Given the description of an element on the screen output the (x, y) to click on. 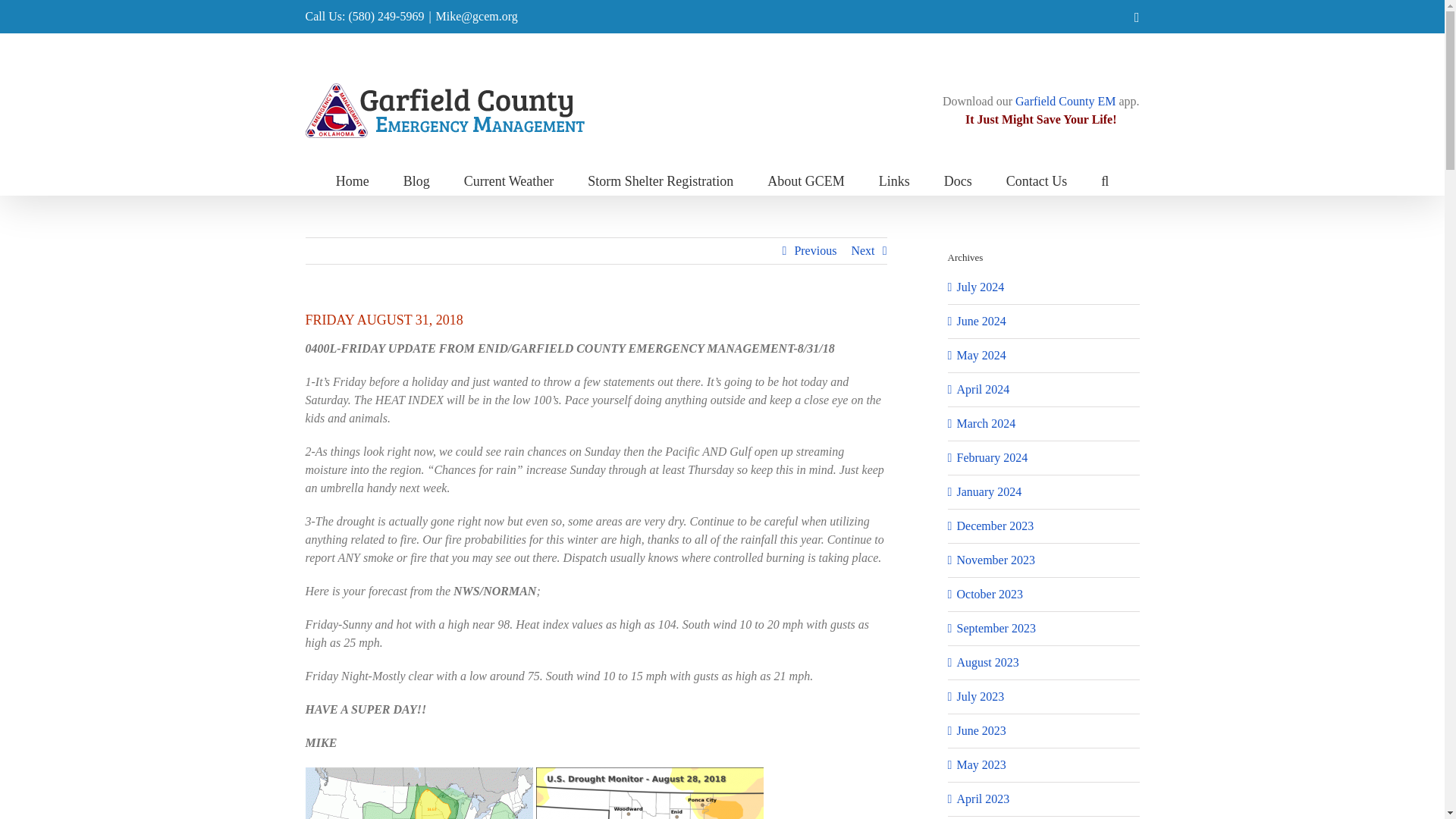
Links (894, 179)
Search (1104, 179)
Facebook (1137, 17)
About GCEM (805, 179)
Docs (957, 179)
Blog (416, 179)
Current Weather (509, 179)
Storm Shelter Registration (660, 179)
Contact Us (1036, 179)
Garfield County EM (1064, 101)
Home (352, 179)
